Given the description of an element on the screen output the (x, y) to click on. 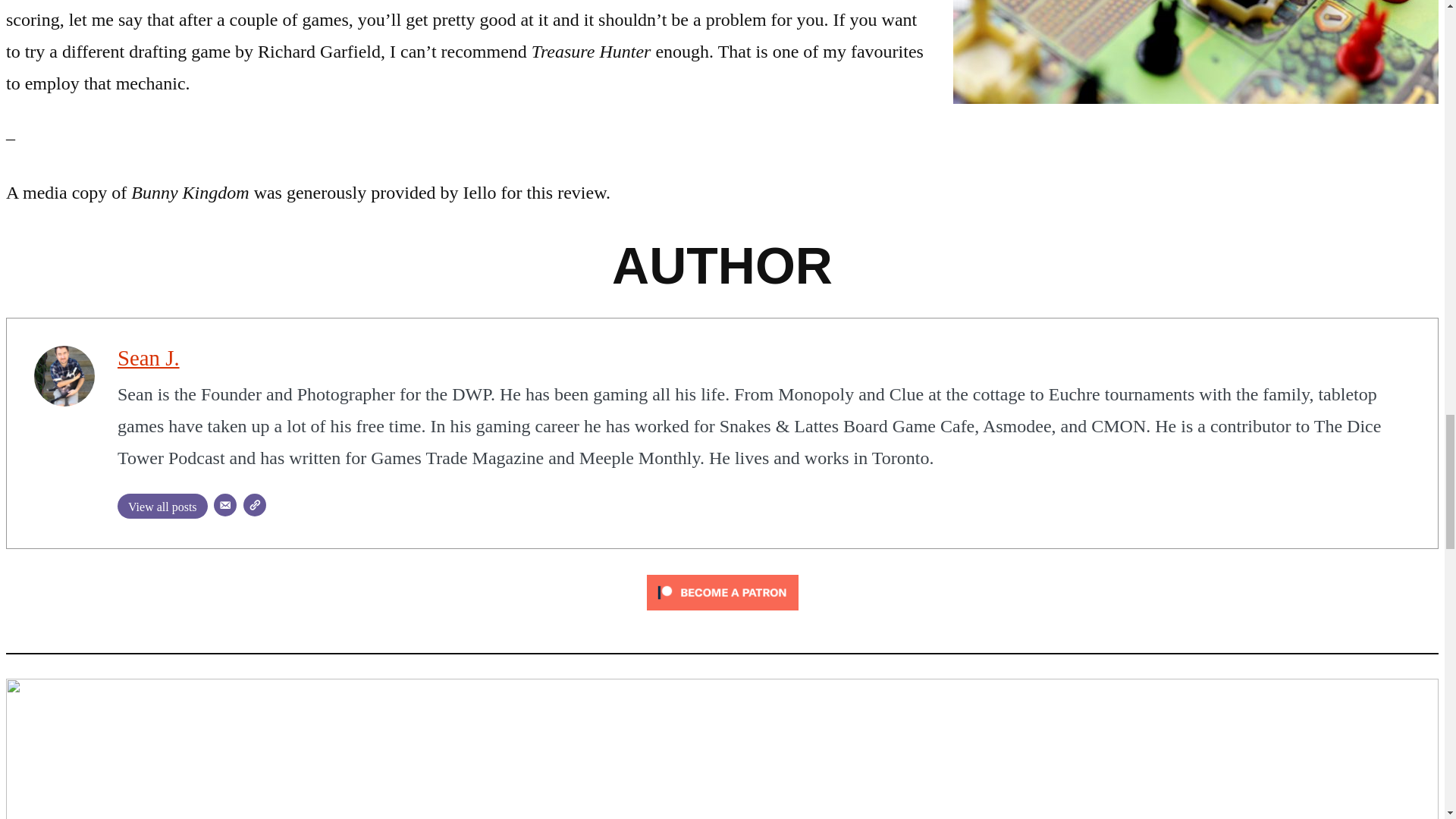
Sean J. (148, 357)
View all posts (162, 505)
View all posts (162, 505)
Sean J. (148, 357)
